Given the description of an element on the screen output the (x, y) to click on. 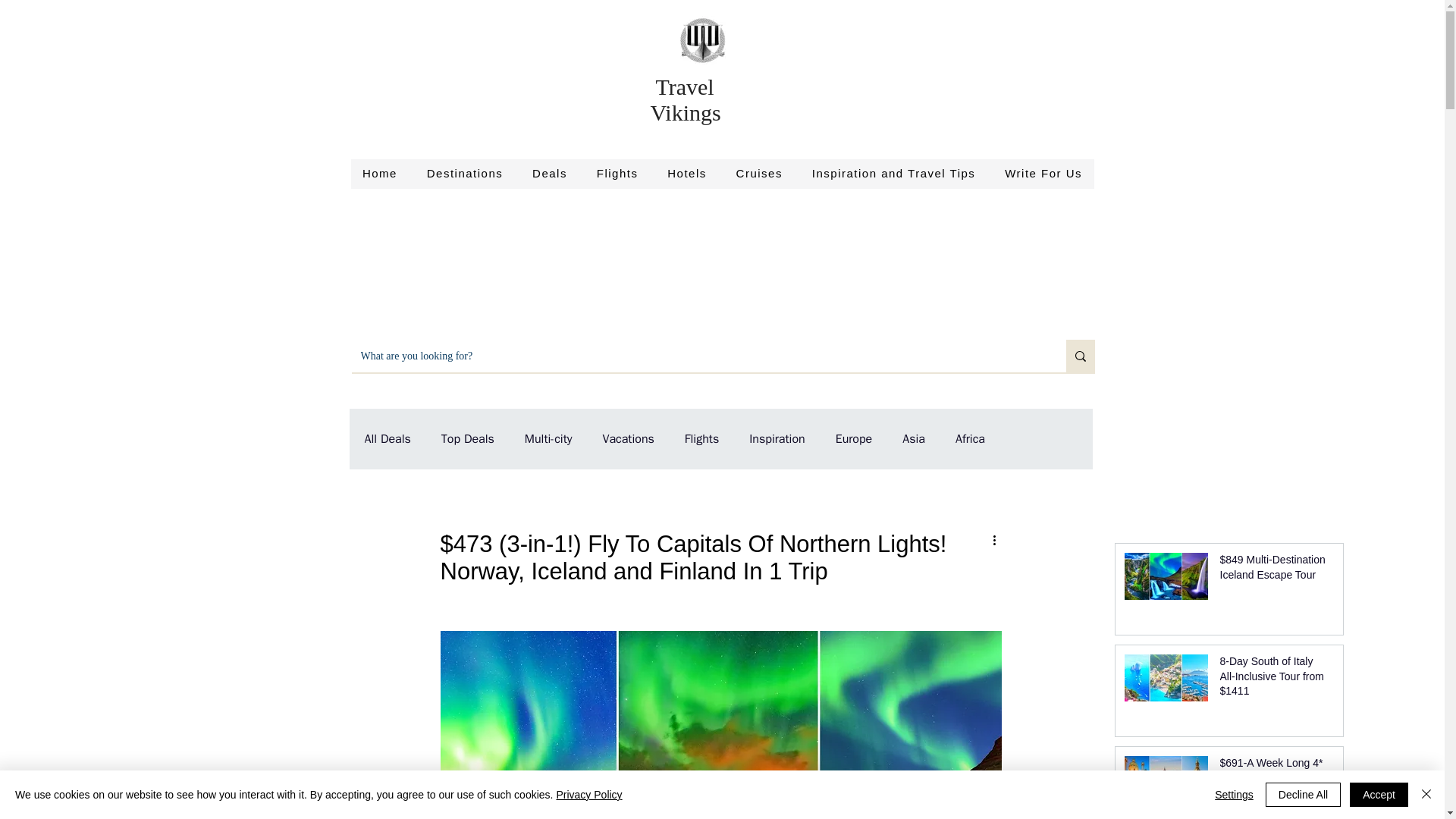
 Travel  Vikings (685, 99)
Top Deals (468, 438)
Inspiration (777, 438)
Home (379, 173)
Hotels (686, 173)
All Deals (387, 438)
Cruises (758, 173)
Asia (913, 438)
Europe (853, 438)
Vacations (627, 438)
